Given the description of an element on the screen output the (x, y) to click on. 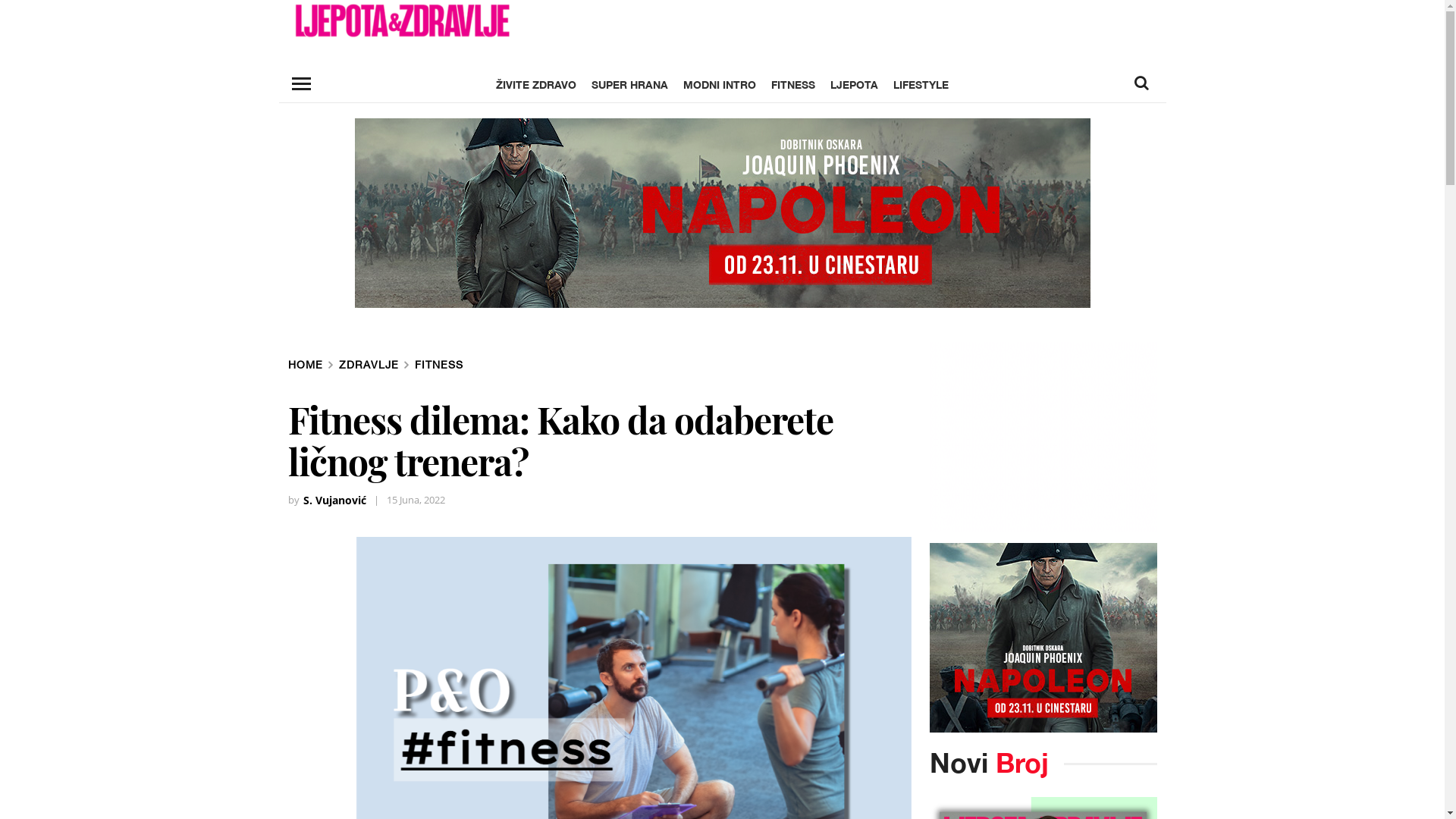
3rd party ad content Element type: hover (1043, 436)
LJEPOTA Element type: text (853, 84)
LIFESTYLE Element type: text (920, 84)
FITNESS Element type: text (792, 84)
SUPER HRANA Element type: text (629, 84)
FITNESS Element type: text (438, 364)
MODNI INTRO Element type: text (719, 84)
3rd party ad content Element type: hover (1043, 637)
ZDRAVLJE Element type: text (368, 364)
HOME Element type: text (305, 364)
3rd party ad content Element type: hover (722, 212)
